Given the description of an element on the screen output the (x, y) to click on. 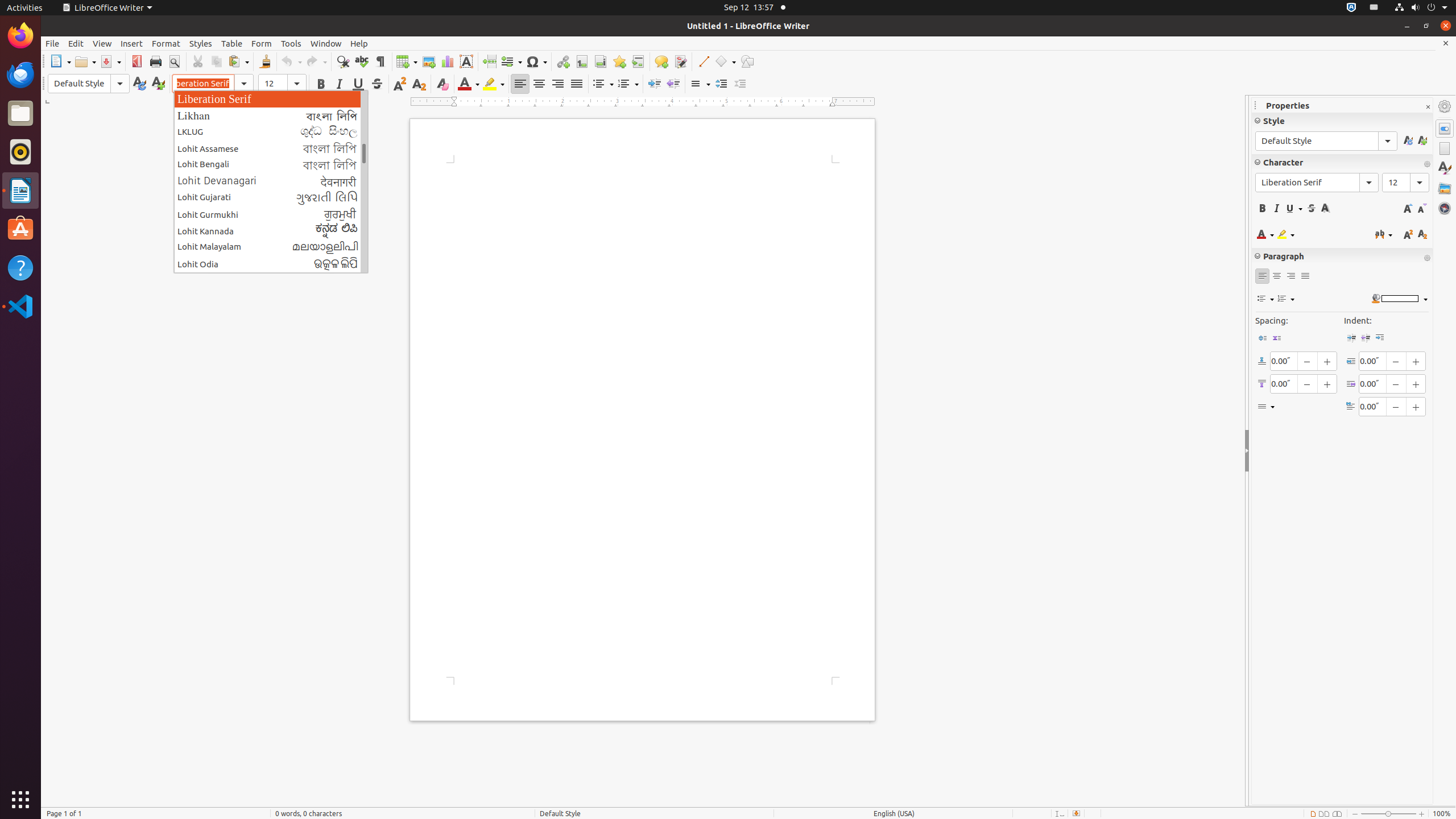
Visual Studio Code Element type: push-button (20, 306)
Endnote Element type: push-button (599, 61)
Find & Replace Element type: toggle-button (342, 61)
